Given the description of an element on the screen output the (x, y) to click on. 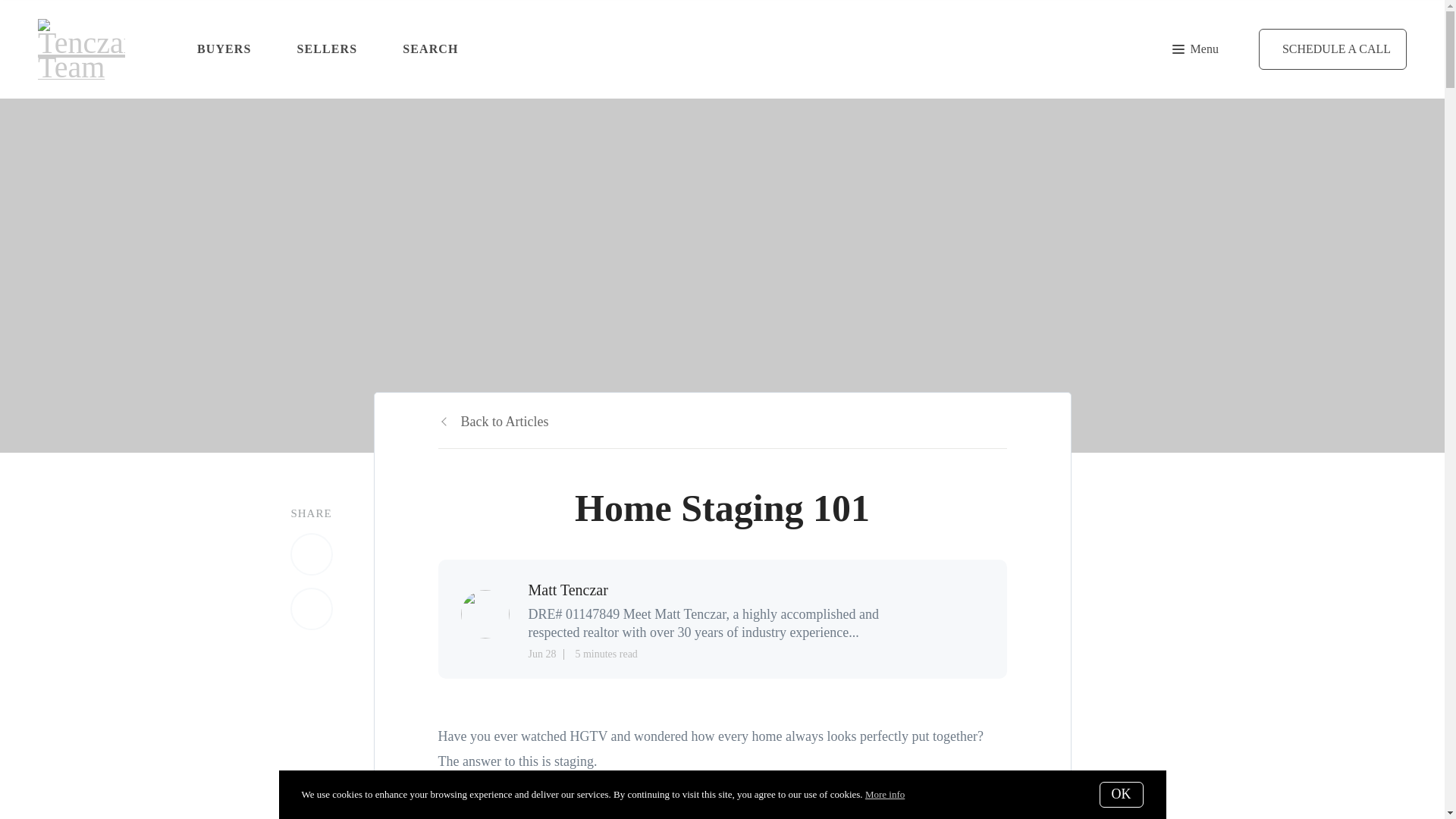
SEARCH (430, 49)
Back to Articles (493, 421)
SELLERS (327, 49)
Menu (1194, 48)
BUYERS (223, 49)
SCHEDULE A CALL (1332, 48)
